Given the description of an element on the screen output the (x, y) to click on. 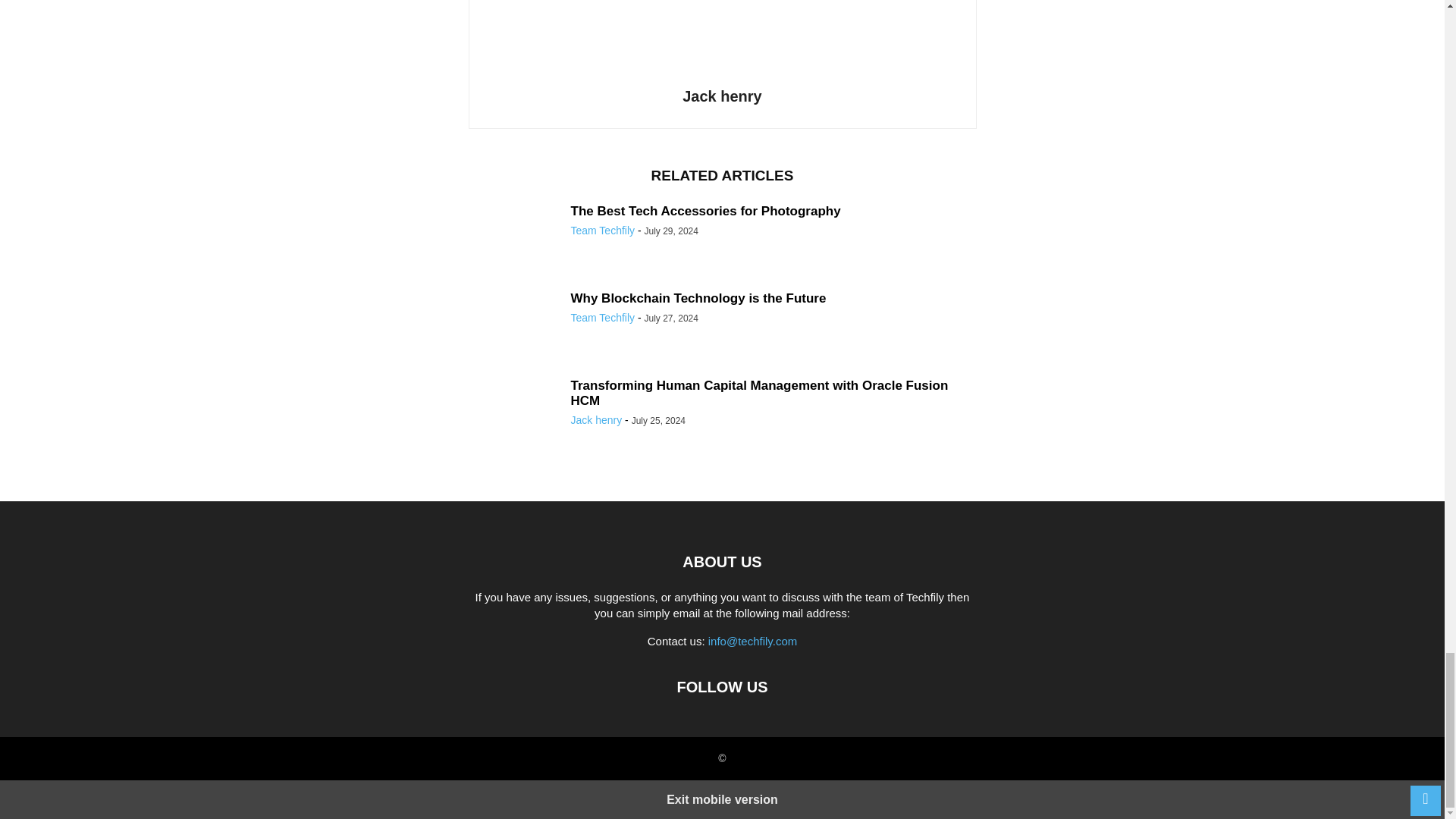
Team Techfily (602, 317)
Jack henry (721, 95)
The Best Tech Accessories for Photography (705, 210)
Why Blockchain Technology is the Future (697, 298)
Team Techfily (602, 230)
